Given the description of an element on the screen output the (x, y) to click on. 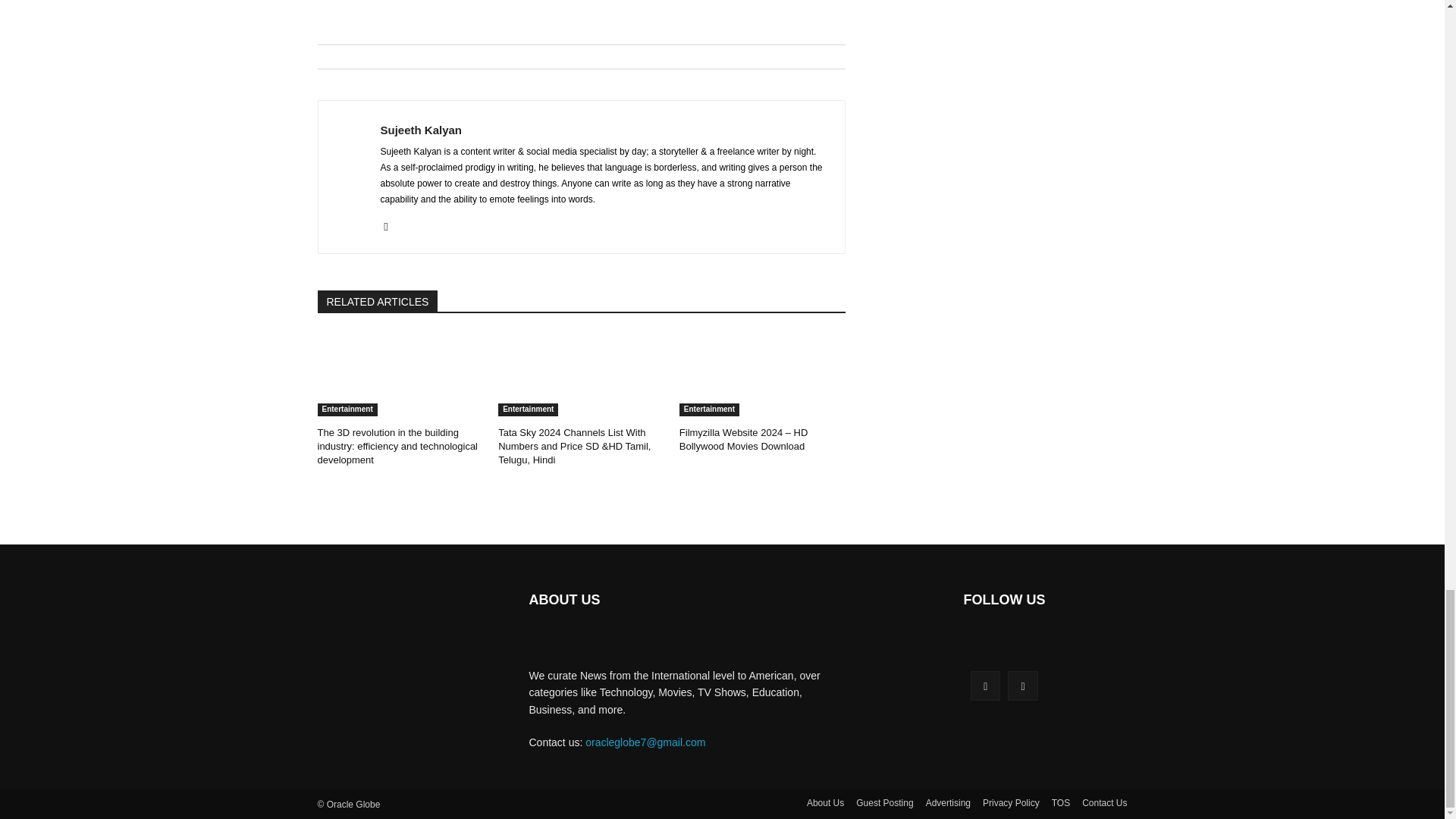
Mail (385, 224)
Entertainment (527, 409)
Entertainment (709, 409)
Sujeeth Kalyan (604, 130)
Entertainment (347, 409)
